Given the description of an element on the screen output the (x, y) to click on. 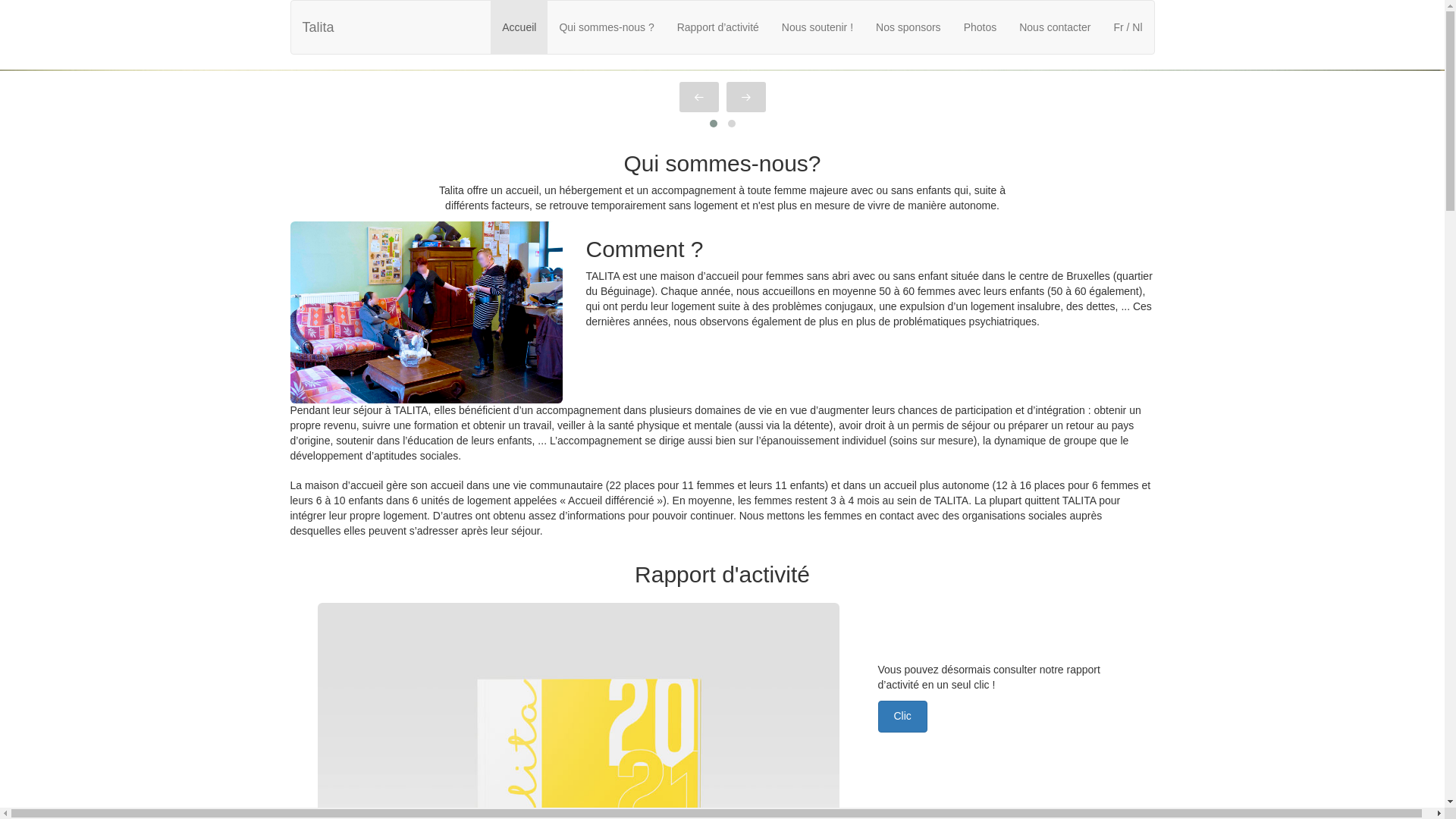
Photos Element type: text (980, 26)
Nous contacter Element type: text (1054, 26)
Accueil Element type: text (518, 26)
Talita Element type: text (318, 26)
Clic Element type: text (902, 716)
Nous soutenir ! Element type: text (817, 26)
Nos sponsors Element type: text (908, 26)
Qui sommes-nous ? Element type: text (606, 26)
Fr / Nl Element type: text (1127, 26)
